Given the description of an element on the screen output the (x, y) to click on. 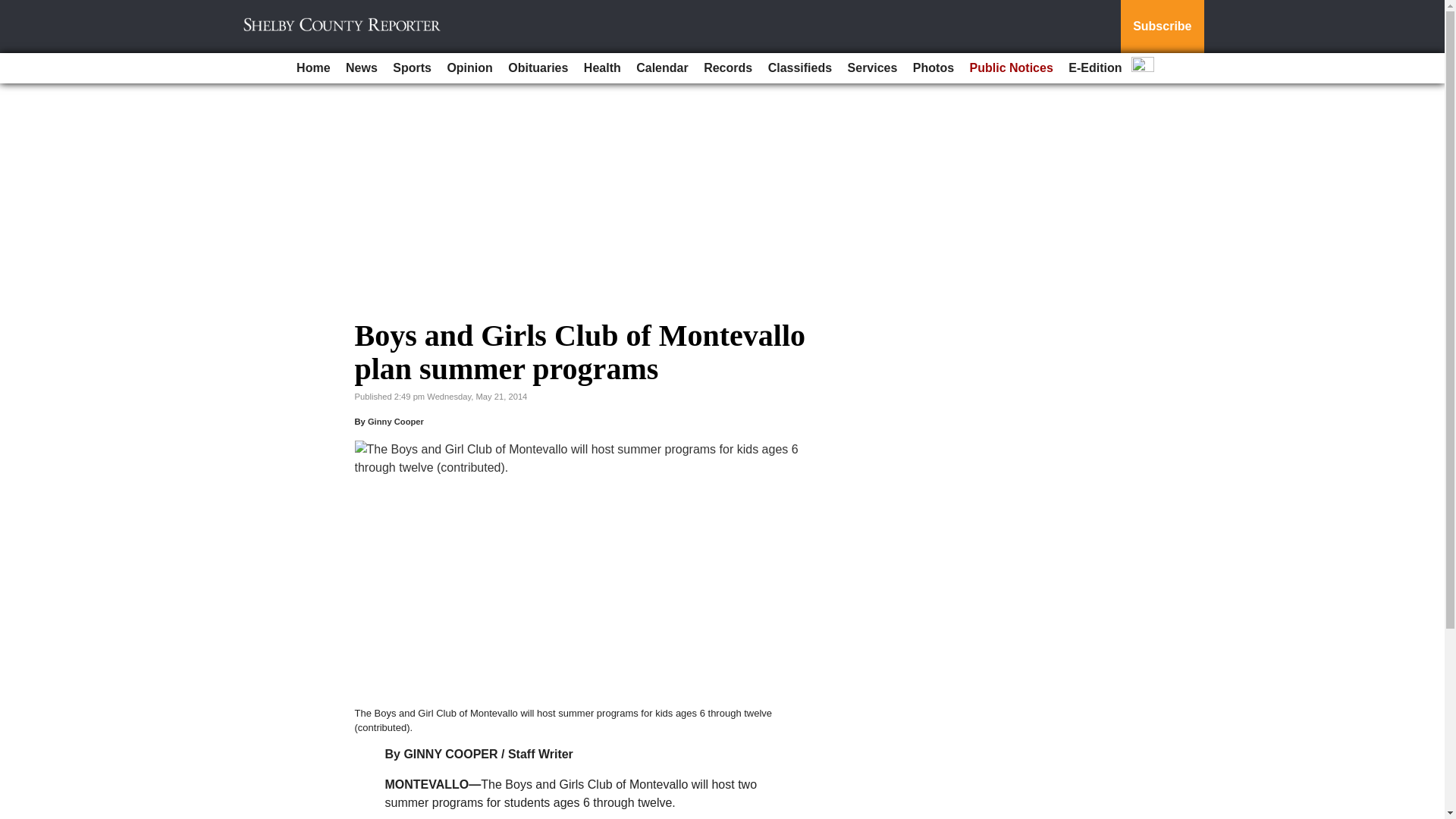
Calendar (662, 68)
Health (602, 68)
Services (872, 68)
Opinion (469, 68)
Subscribe (1162, 26)
Classifieds (799, 68)
News (361, 68)
Home (312, 68)
Obituaries (537, 68)
Records (727, 68)
